Given the description of an element on the screen output the (x, y) to click on. 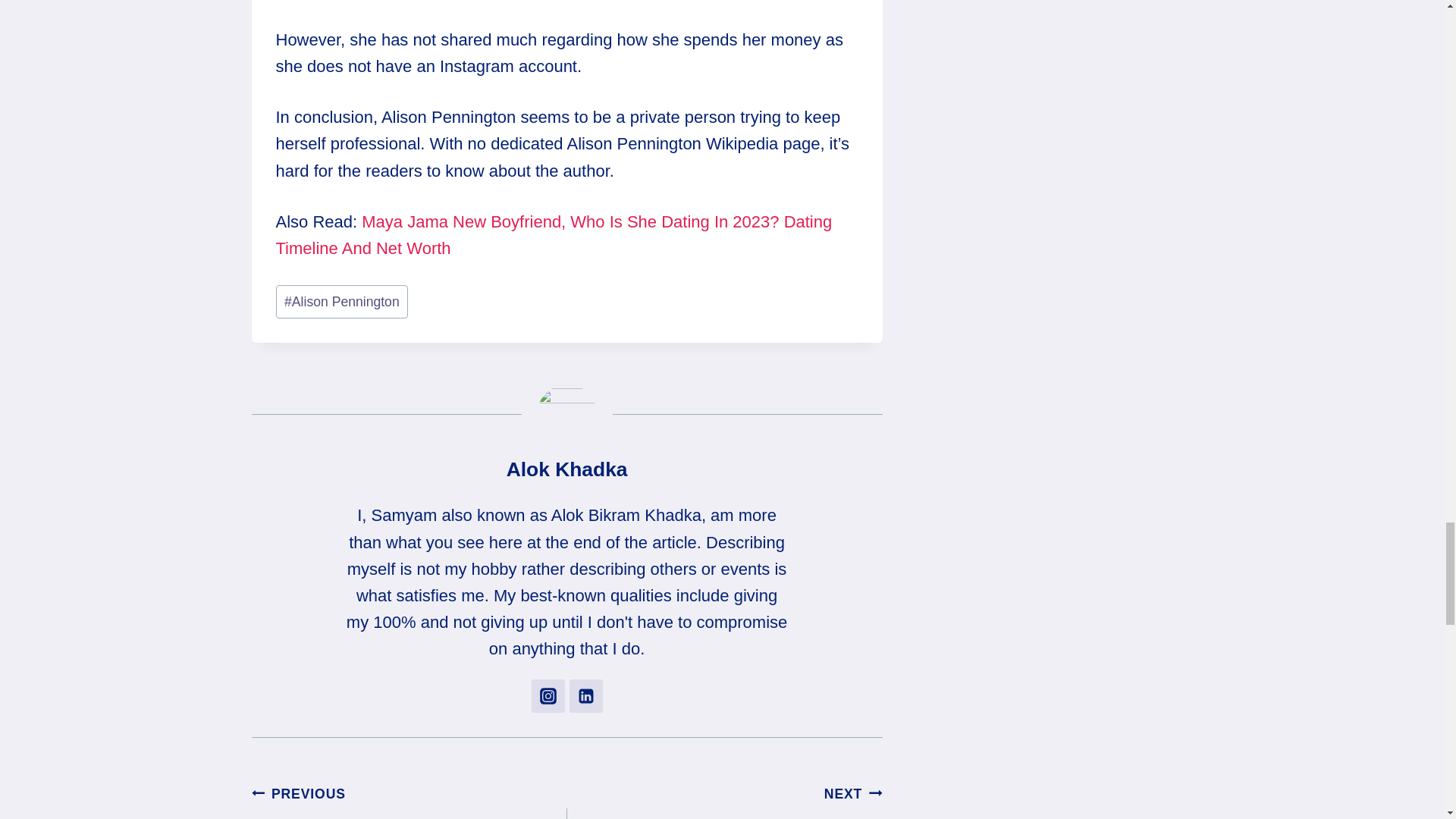
Alok Khadka (566, 468)
Follow Alok Khadka on Instagram (547, 695)
Alison Pennington (342, 301)
Follow Alok Khadka on Linkedin (585, 695)
Posts by Alok Khadka (566, 468)
